Given the description of an element on the screen output the (x, y) to click on. 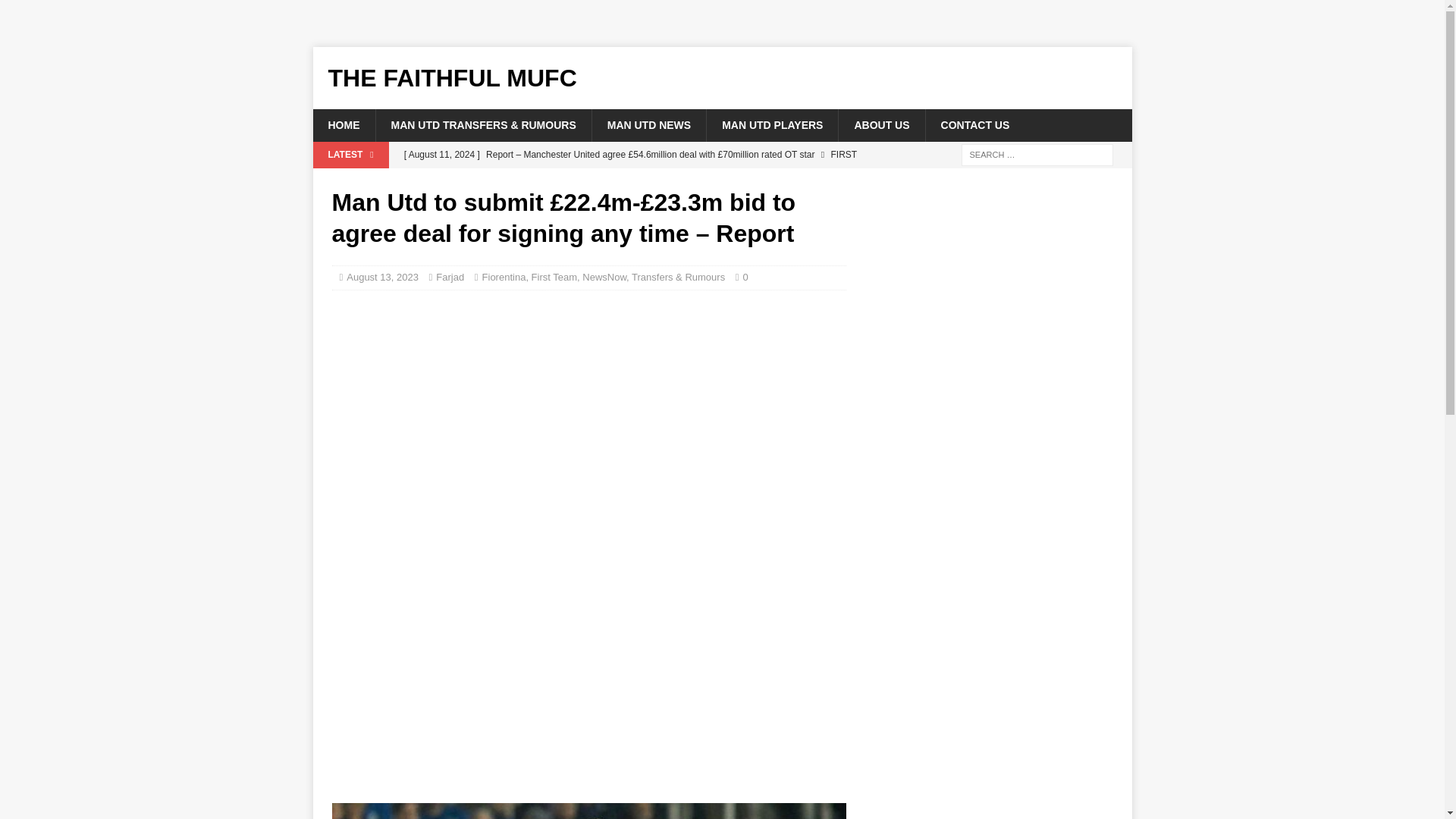
Farjad (449, 276)
CONTACT US (974, 124)
ABOUT US (881, 124)
NewsNow (604, 276)
THE FAITHFUL MUFC (721, 78)
Search (56, 11)
MAN UTD NEWS (648, 124)
Fiorentina (503, 276)
First Team (553, 276)
The Faithful MUFC (721, 78)
